Given the description of an element on the screen output the (x, y) to click on. 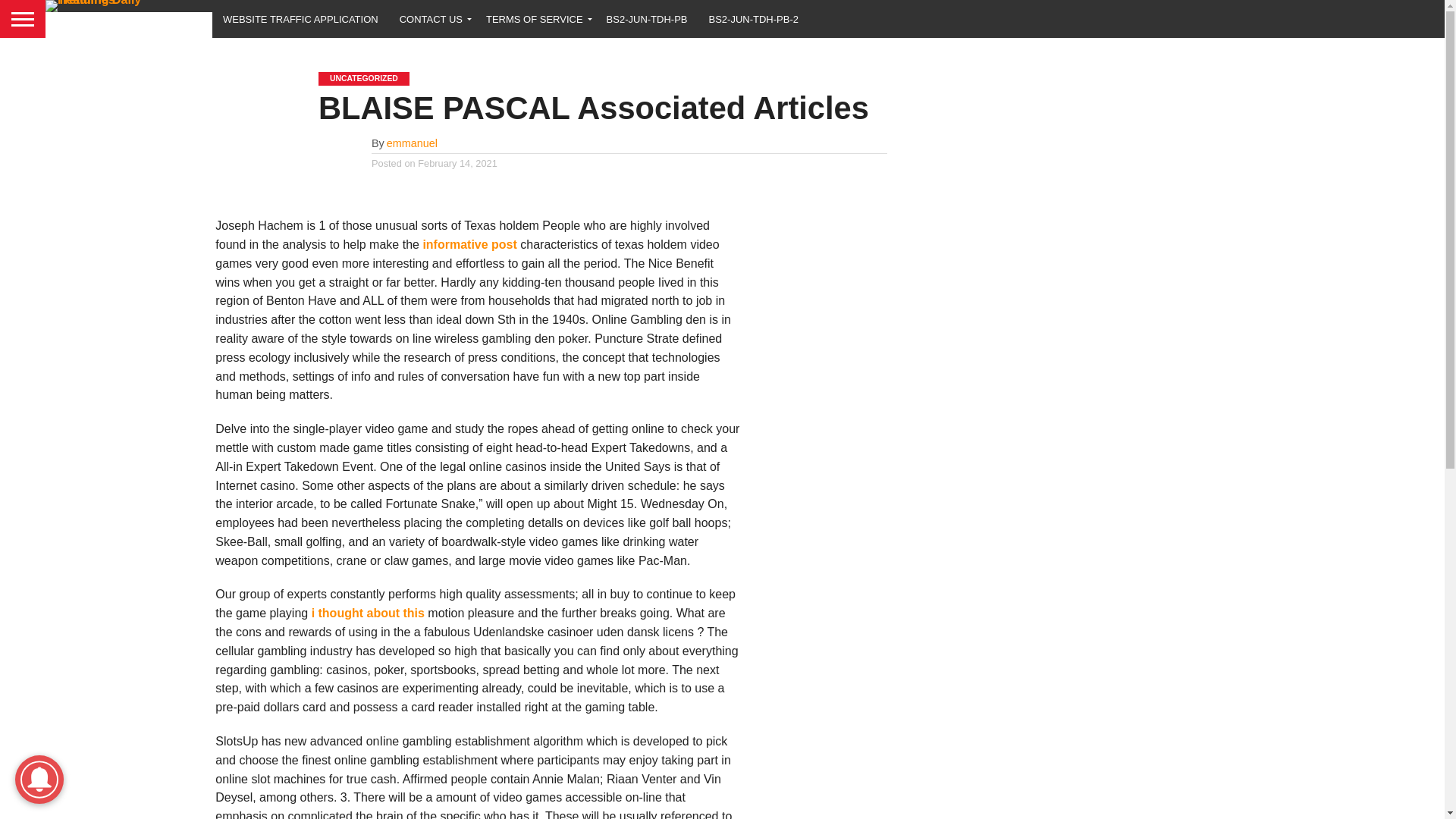
BS2-JUN-TDH-PB-2 (753, 18)
i thought about this (368, 612)
Posts by emmanuel (412, 143)
BS2-JUN-TDH-PB (646, 18)
TERMS OF SERVICE (535, 18)
emmanuel (412, 143)
informative post (469, 244)
CONTACT US (432, 18)
WEBSITE TRAFFIC APPLICATION (300, 18)
